Given the description of an element on the screen output the (x, y) to click on. 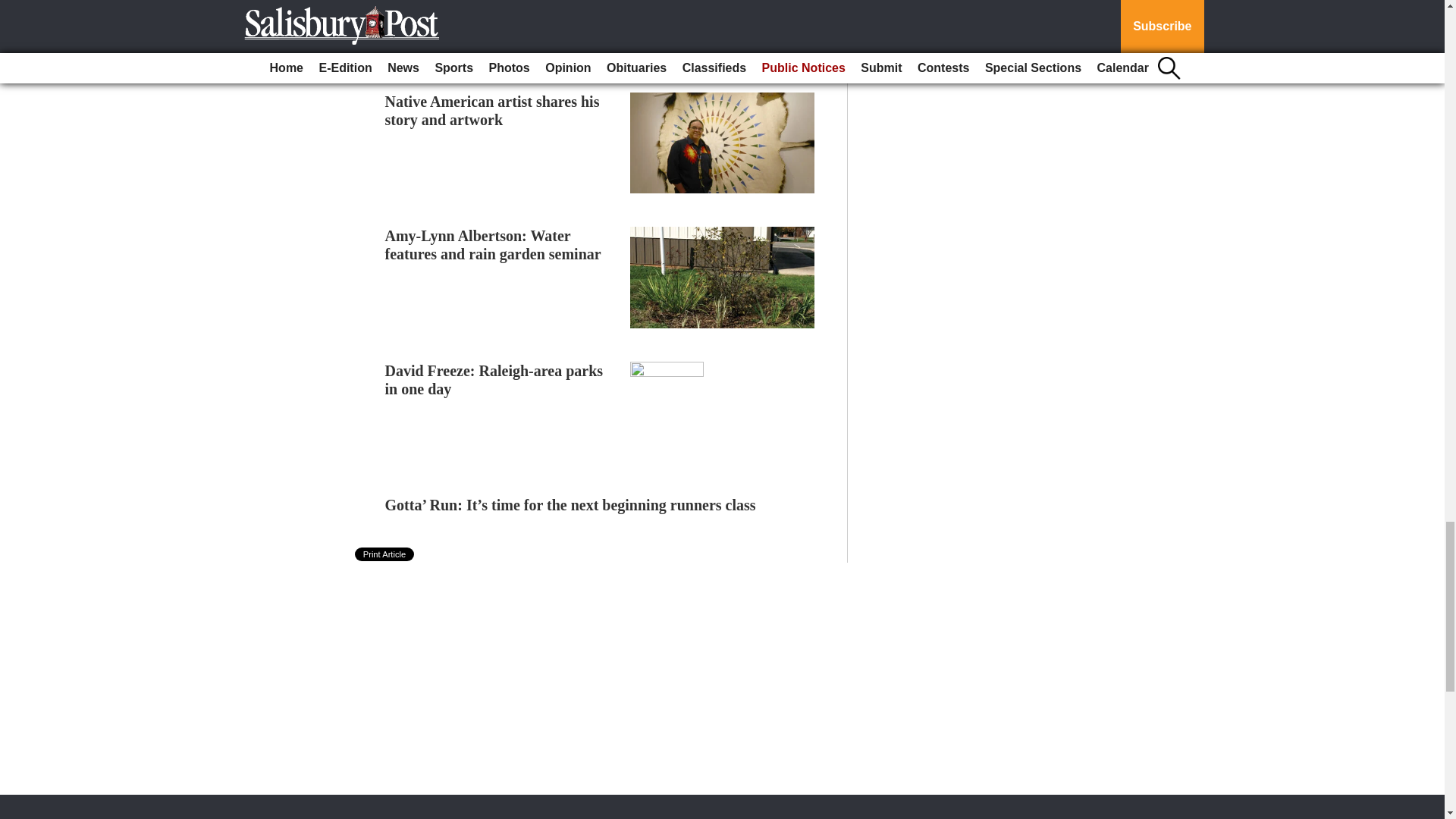
David Freeze: Raleigh-area parks in one day (494, 379)
Amy-Lynn Albertson: Water features and rain garden seminar (493, 244)
Native American artist shares his story and artwork (492, 110)
